Given the description of an element on the screen output the (x, y) to click on. 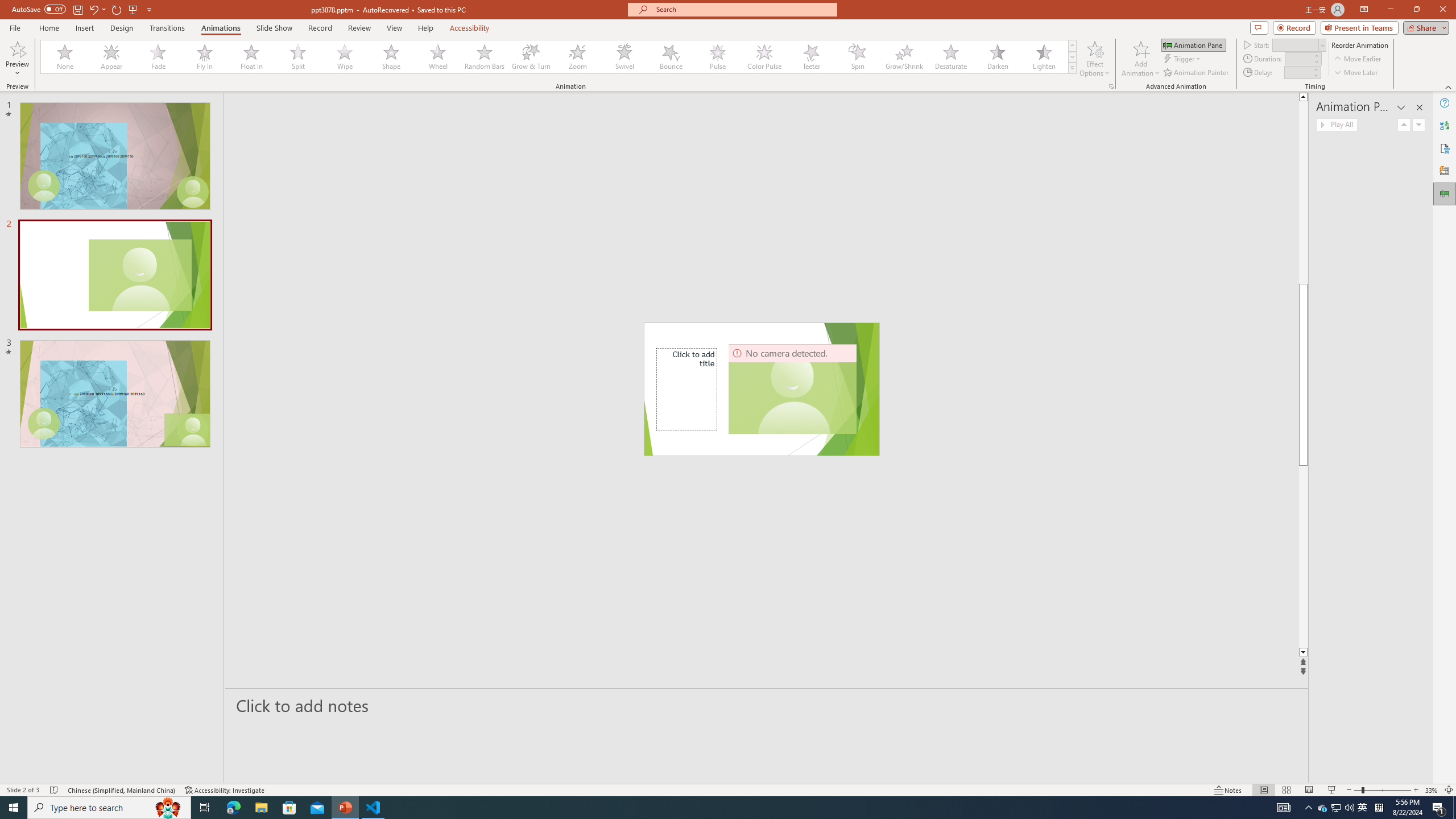
Wipe (344, 56)
Move Down (1418, 124)
More (1315, 69)
